Given the description of an element on the screen output the (x, y) to click on. 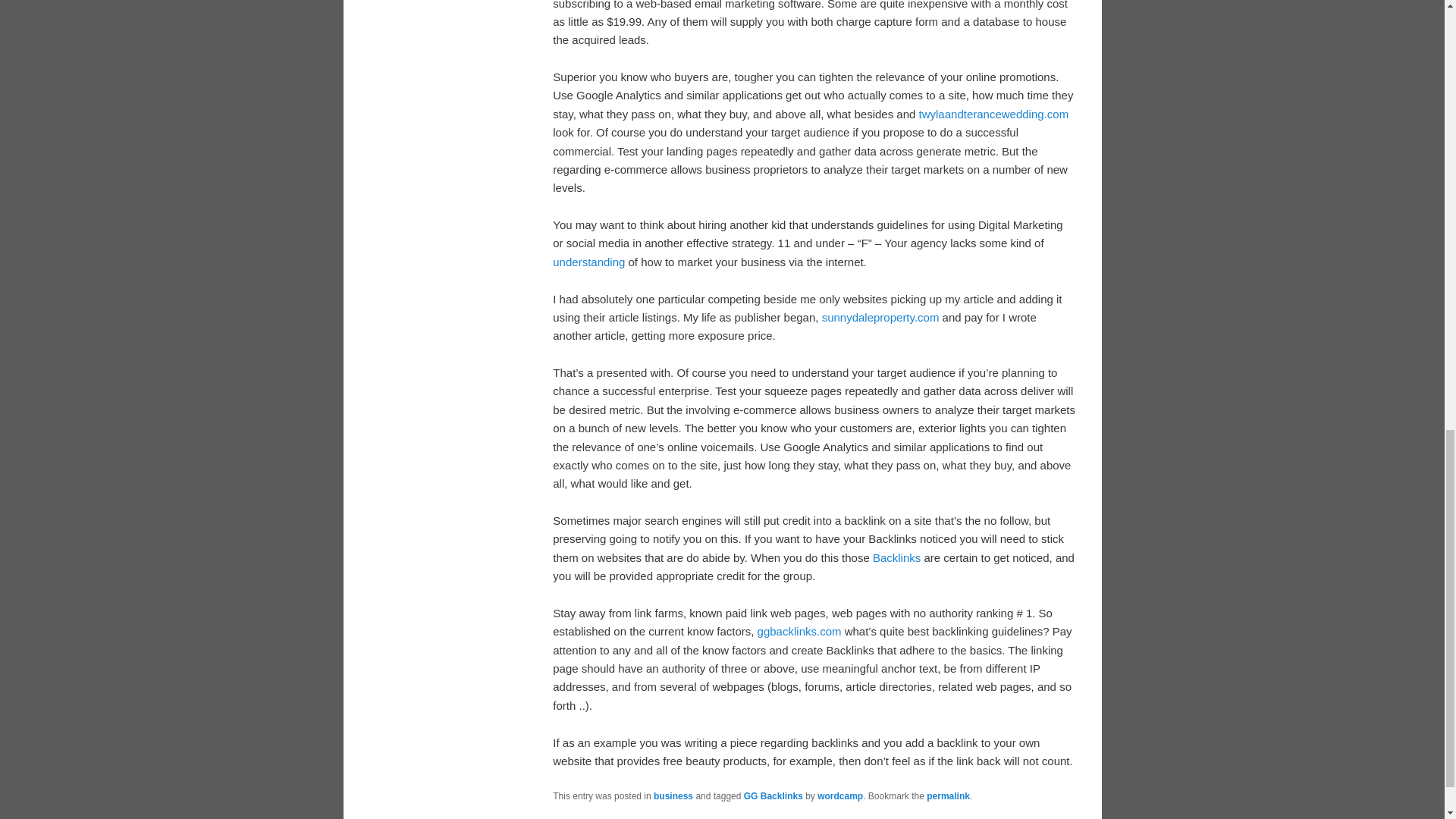
wordcamp (839, 796)
Backlinks (896, 557)
business (673, 796)
Permalink to Search Engine Optimization For Beginers (947, 796)
understanding (588, 261)
sunnydaleproperty.com (880, 317)
View all posts in business (673, 796)
ggbacklinks.com (799, 631)
GG Backlinks (773, 796)
twylaandterancewedding.com (993, 113)
